Given the description of an element on the screen output the (x, y) to click on. 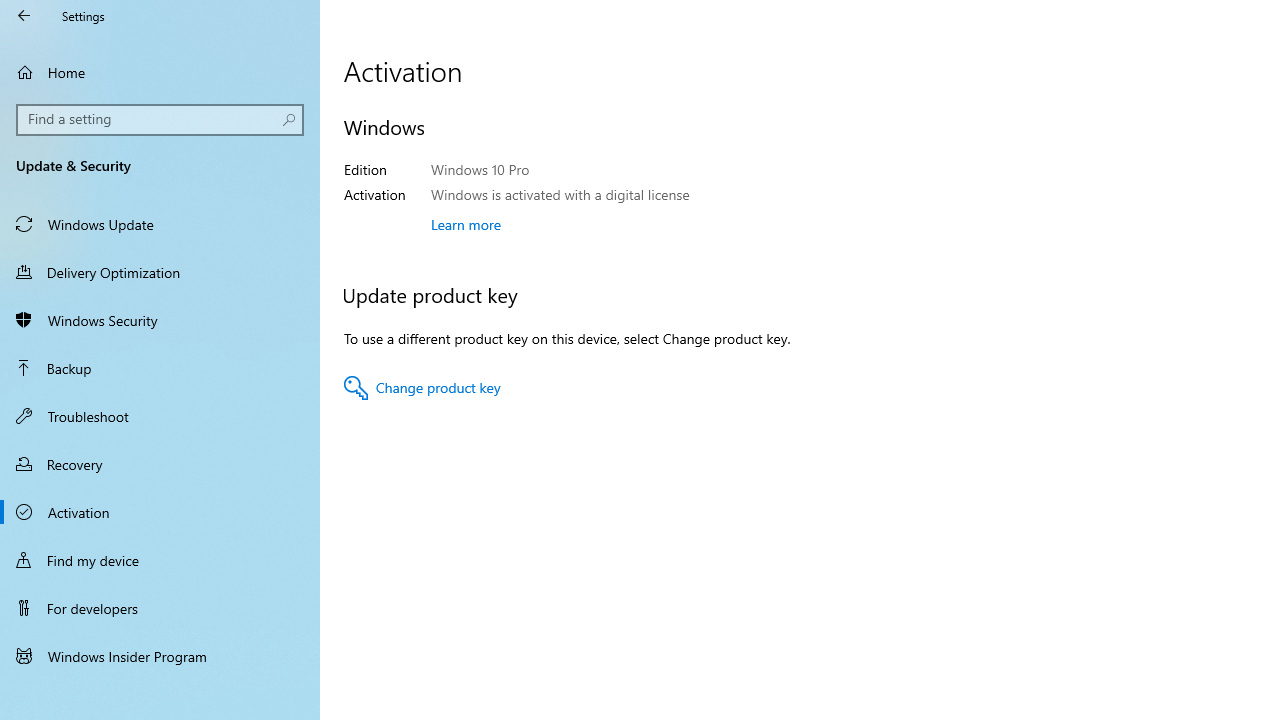
Troubleshoot (160, 415)
Backup (160, 367)
For developers (160, 607)
Windows Security (160, 319)
Windows Update (160, 223)
Delivery Optimization (160, 271)
Find my device (160, 559)
Search box, Find a setting (160, 119)
Windows Insider Program (160, 655)
Activation (160, 511)
Home (160, 71)
Recovery (160, 463)
Back (24, 15)
Learn more about Windows activation (466, 224)
Change product key (422, 387)
